Given the description of an element on the screen output the (x, y) to click on. 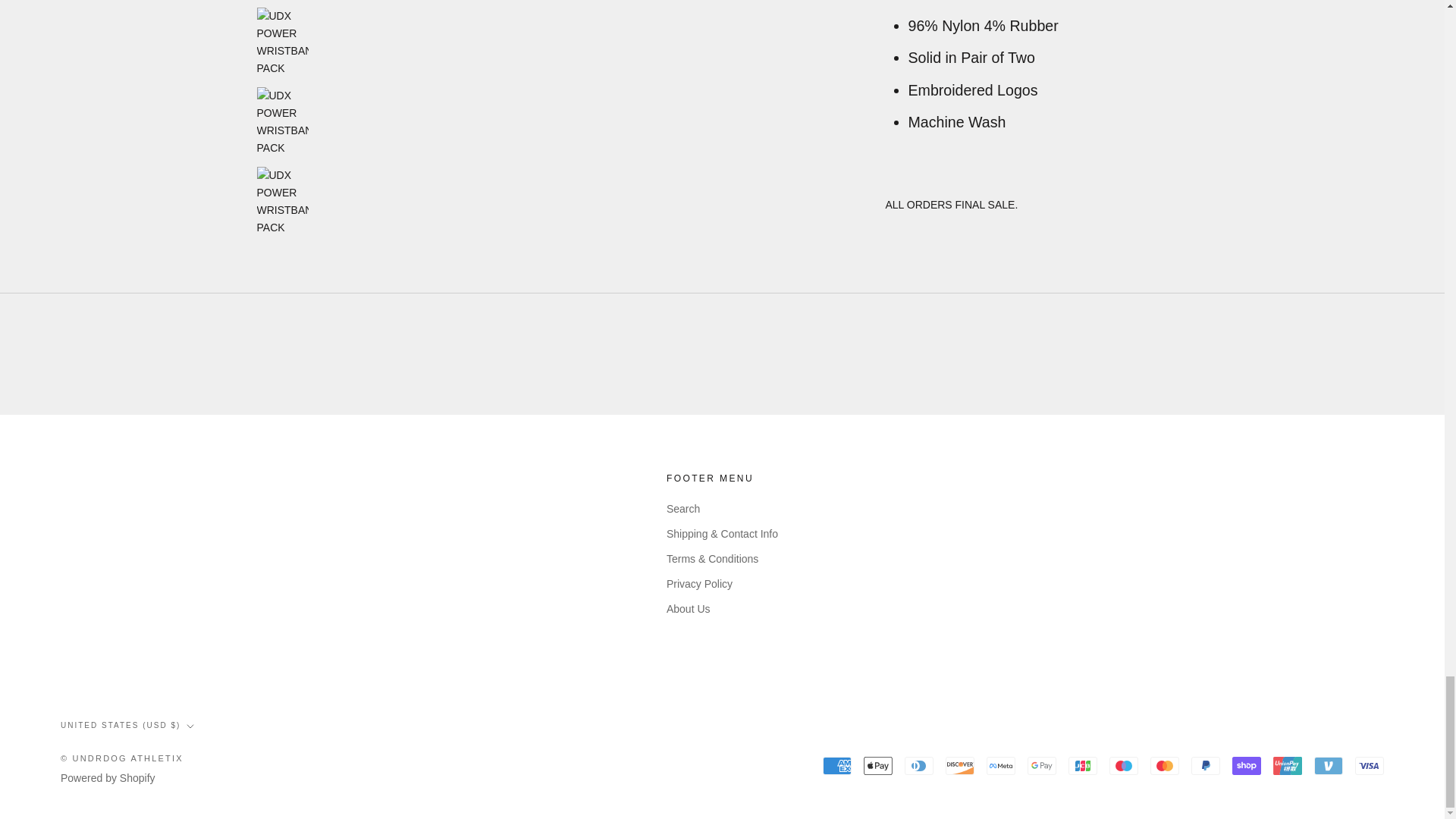
Diners Club (918, 764)
Shop Pay (1245, 764)
JCB (1082, 764)
Google Pay (1042, 764)
Maestro (1123, 764)
Mastercard (1164, 764)
PayPal (1205, 764)
American Express (836, 764)
Apple Pay (877, 764)
Meta Pay (1000, 764)
